Given the description of an element on the screen output the (x, y) to click on. 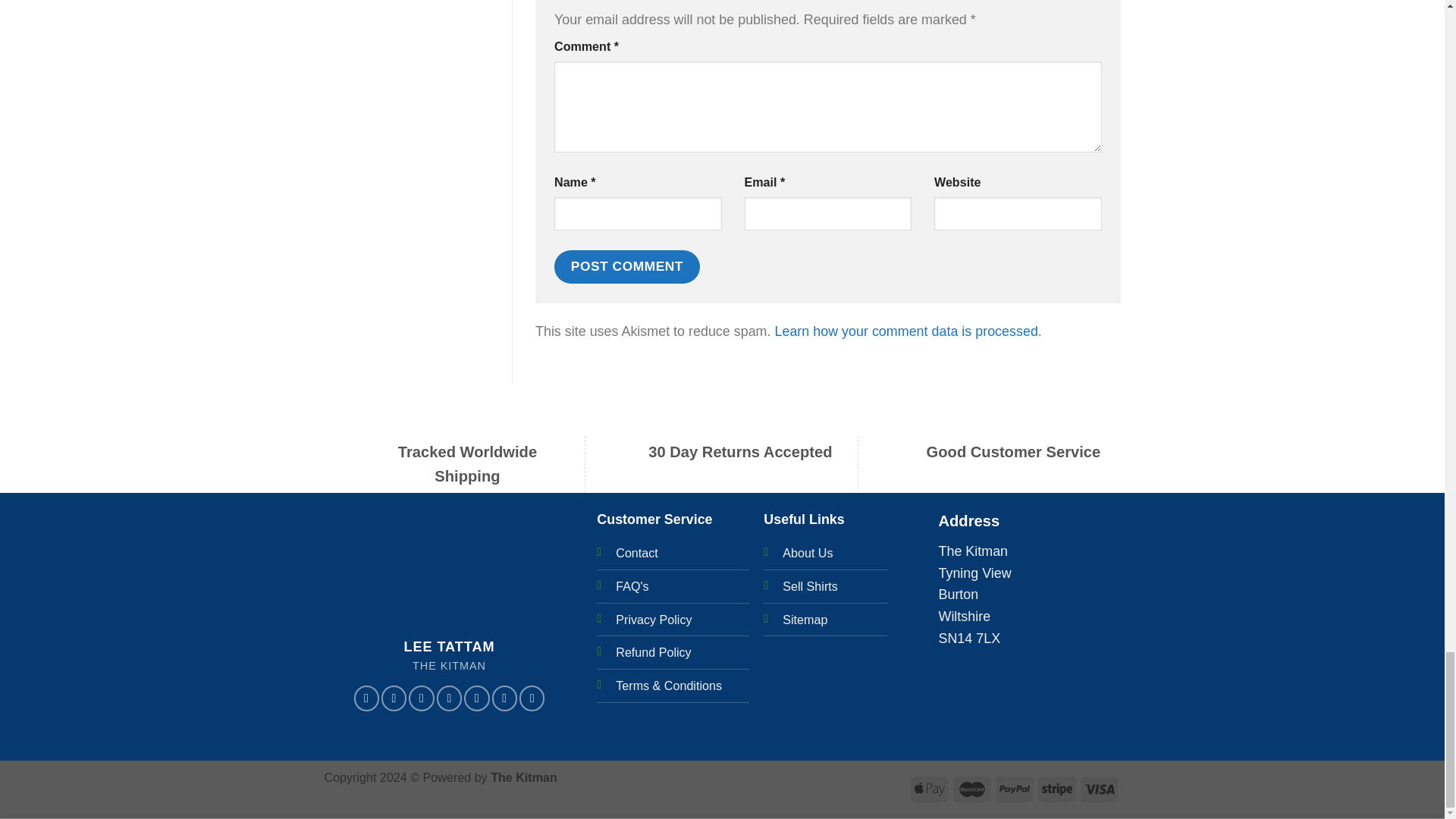
Follow on Instagram (393, 697)
Follow on TikTok (421, 697)
Send us an email (476, 697)
Call us (504, 697)
Follow on X (448, 697)
Follow on LinkedIn (531, 697)
Follow on Facebook (365, 697)
Post Comment (627, 266)
